Given the description of an element on the screen output the (x, y) to click on. 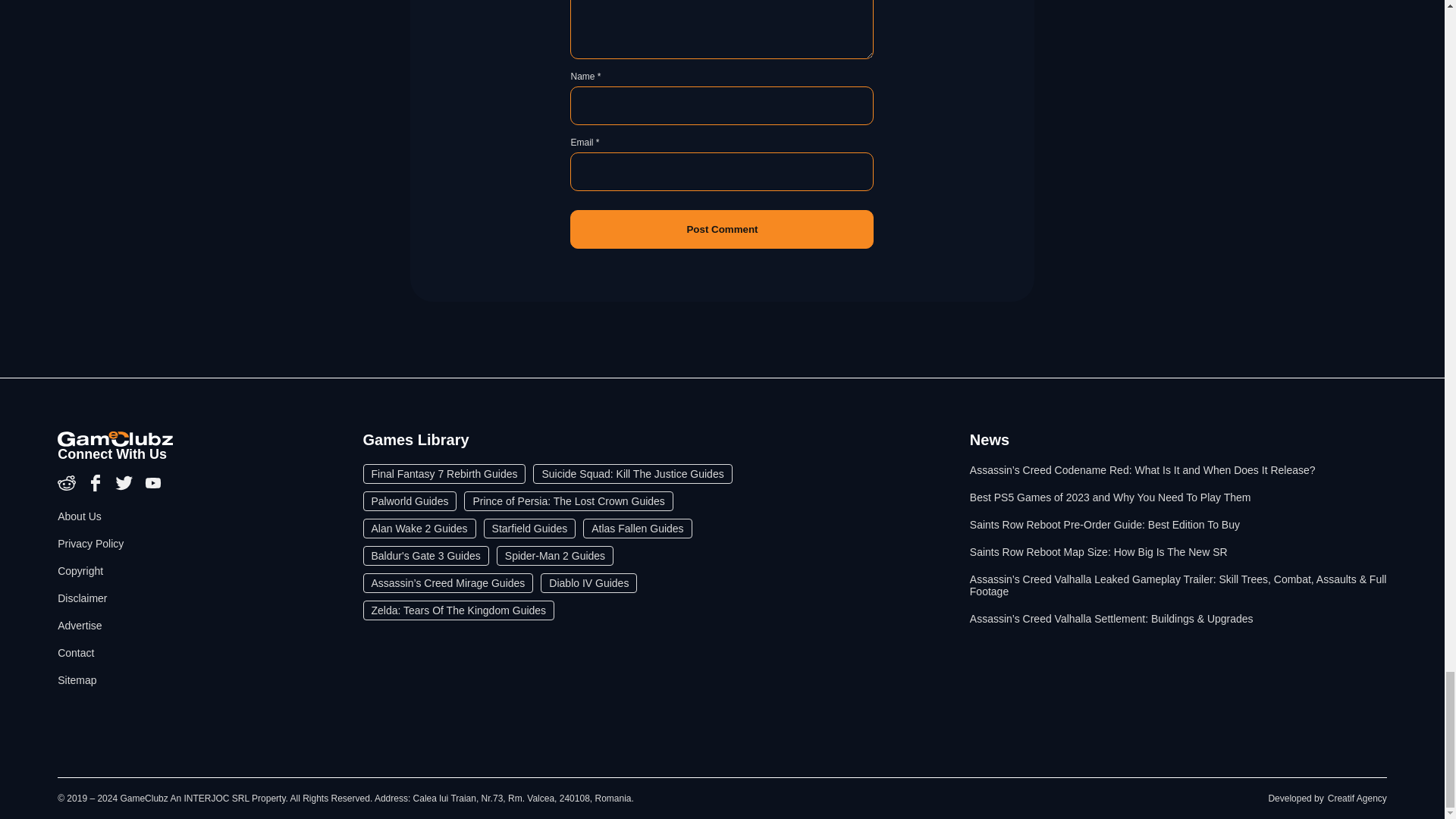
Creatif Agency web design (1357, 798)
Post Comment (721, 228)
youtube (152, 488)
twitter (125, 488)
facebook (96, 488)
instagram (68, 488)
